Given the description of an element on the screen output the (x, y) to click on. 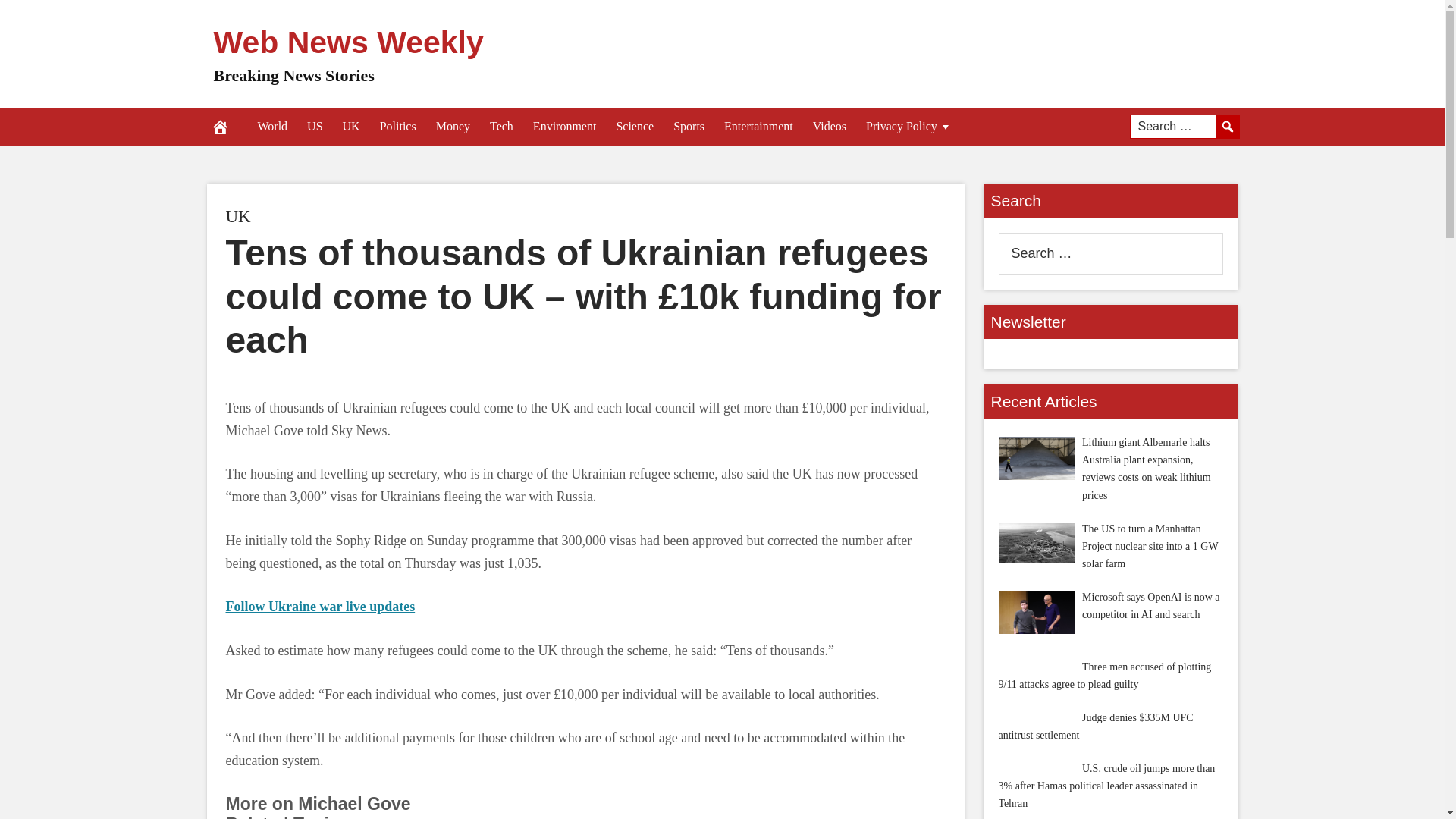
Politics (397, 126)
Sports (688, 126)
US (314, 126)
Entertainment (758, 126)
Privacy Policy (909, 126)
Environment (564, 126)
Money (453, 126)
Science (634, 126)
UK (237, 216)
Web News Weekly (348, 42)
Tech (501, 126)
World (272, 126)
UK (351, 126)
Videos (829, 126)
